Given the description of an element on the screen output the (x, y) to click on. 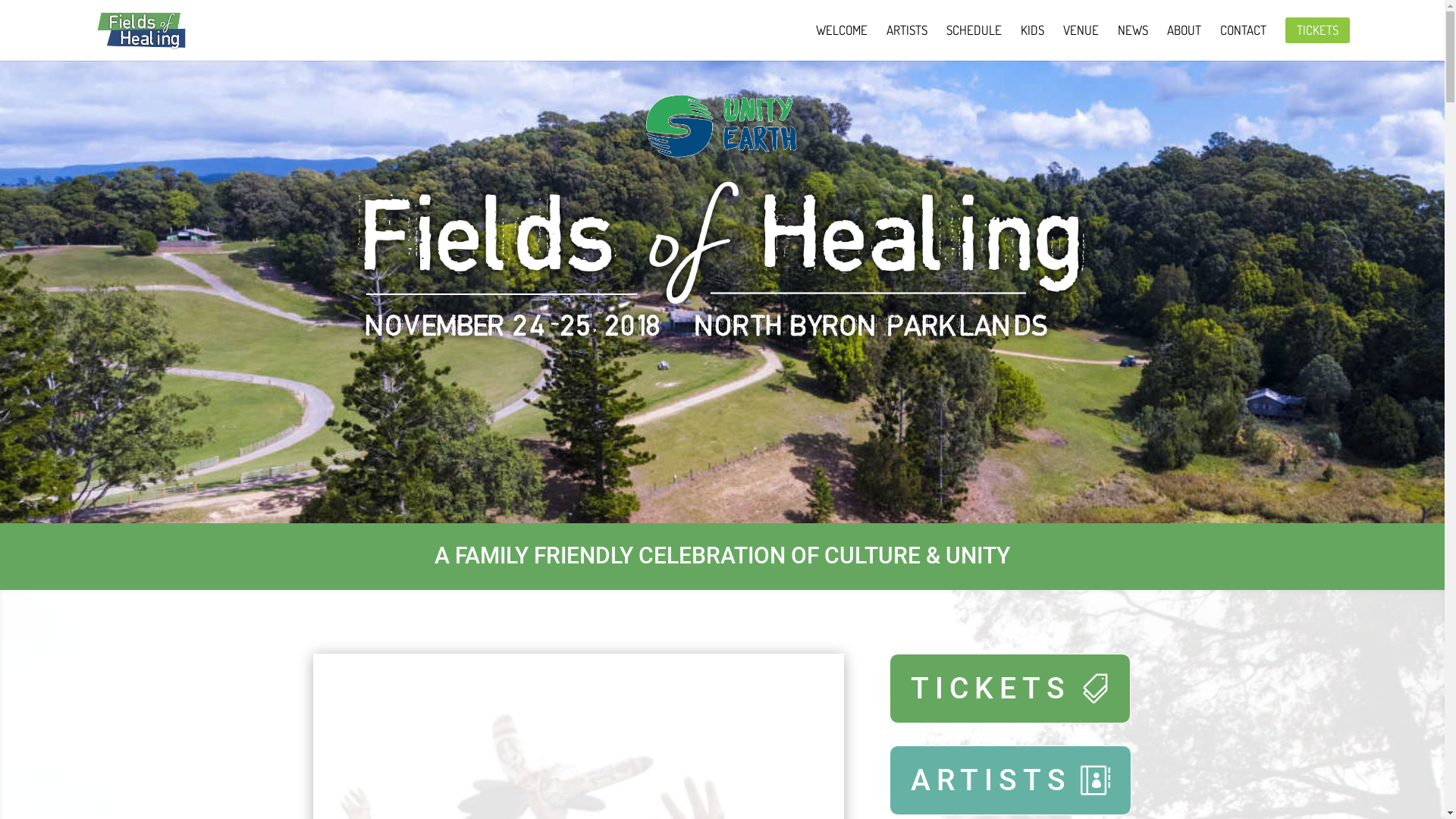
TICKETS Element type: text (1317, 30)
SCHEDULE Element type: text (973, 42)
WELCOME Element type: text (841, 42)
TICKETS Element type: text (1009, 688)
NEWS Element type: text (1132, 42)
ARTISTS Element type: text (1010, 780)
KIDS Element type: text (1032, 42)
Fields of Healing Byron Bay Logo Element type: hover (721, 263)
ABOUT Element type: text (1184, 42)
VENUE Element type: text (1080, 42)
CONTACT Element type: text (1243, 42)
ARTISTS Element type: text (906, 42)
